Given the description of an element on the screen output the (x, y) to click on. 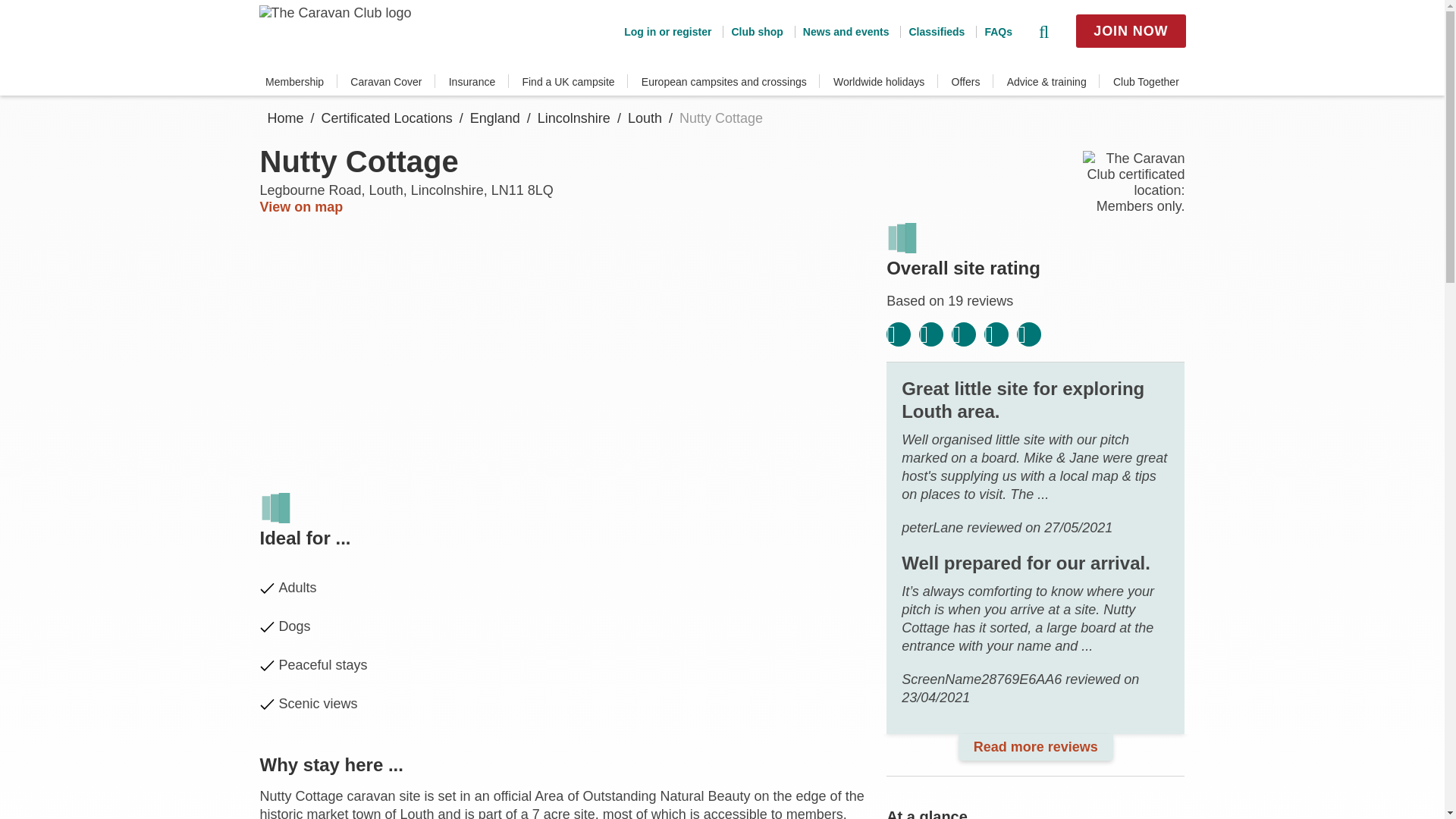
Classifieds (931, 31)
Club shop (752, 31)
News and events (841, 31)
Caravan Cover (386, 81)
Membership (293, 81)
JOIN NOW (1130, 30)
Log in or register (667, 31)
Log in or register (667, 31)
FAQs (993, 31)
